Given the description of an element on the screen output the (x, y) to click on. 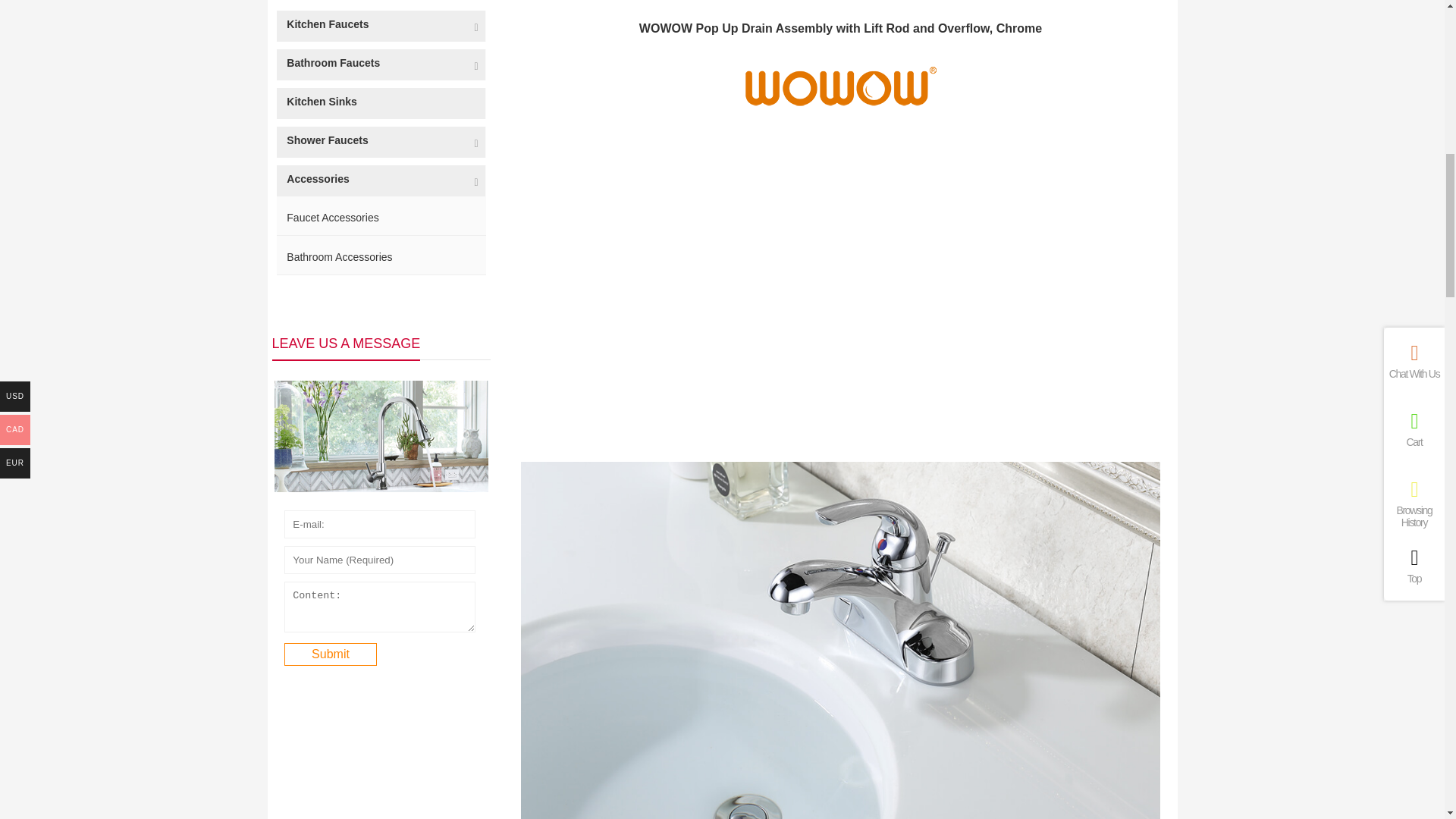
Submit (330, 653)
